Given the description of an element on the screen output the (x, y) to click on. 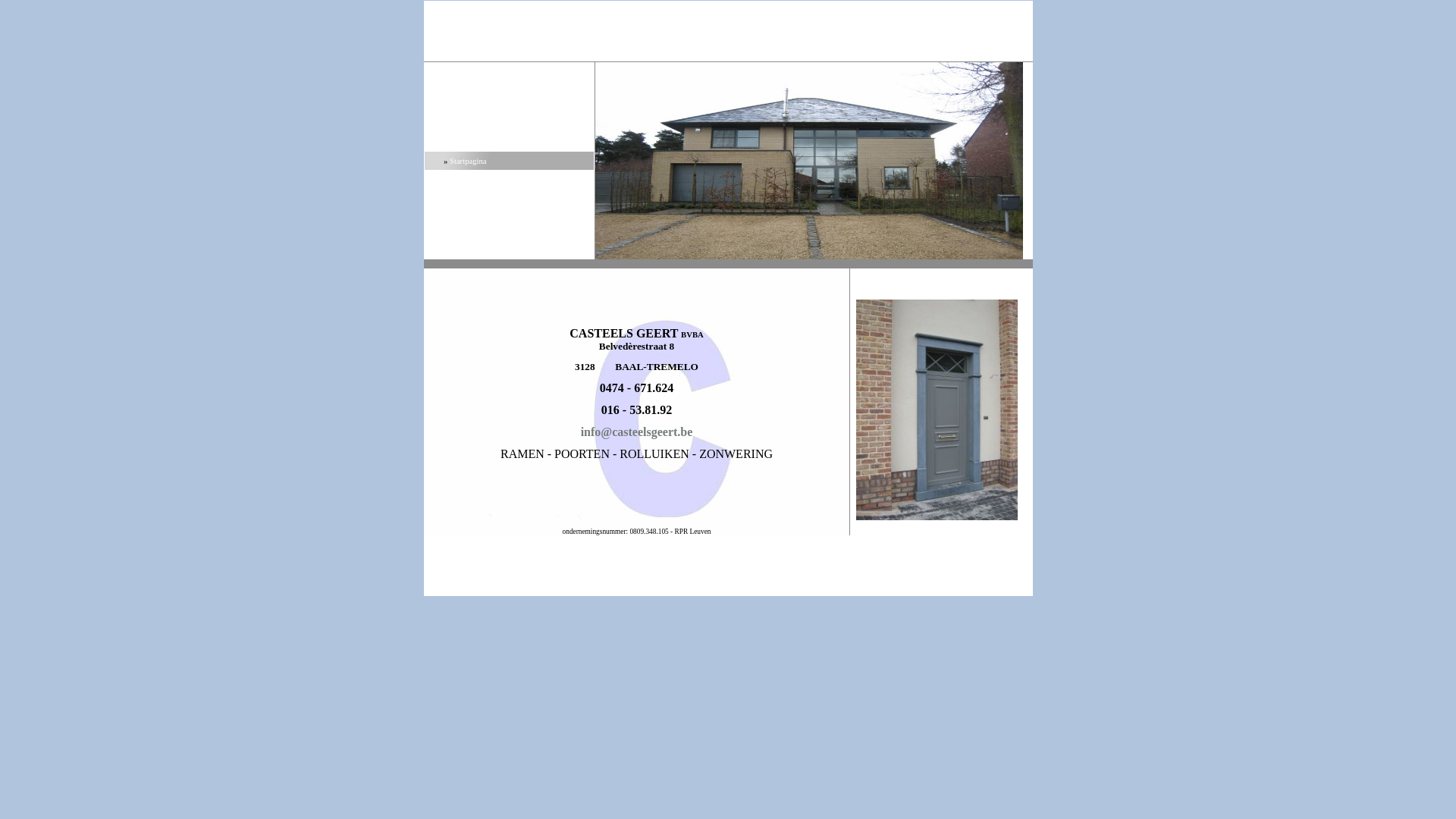
Startpagina Element type: text (467, 160)
info@casteelsgeert.be Element type: text (636, 431)
